Given the description of an element on the screen output the (x, y) to click on. 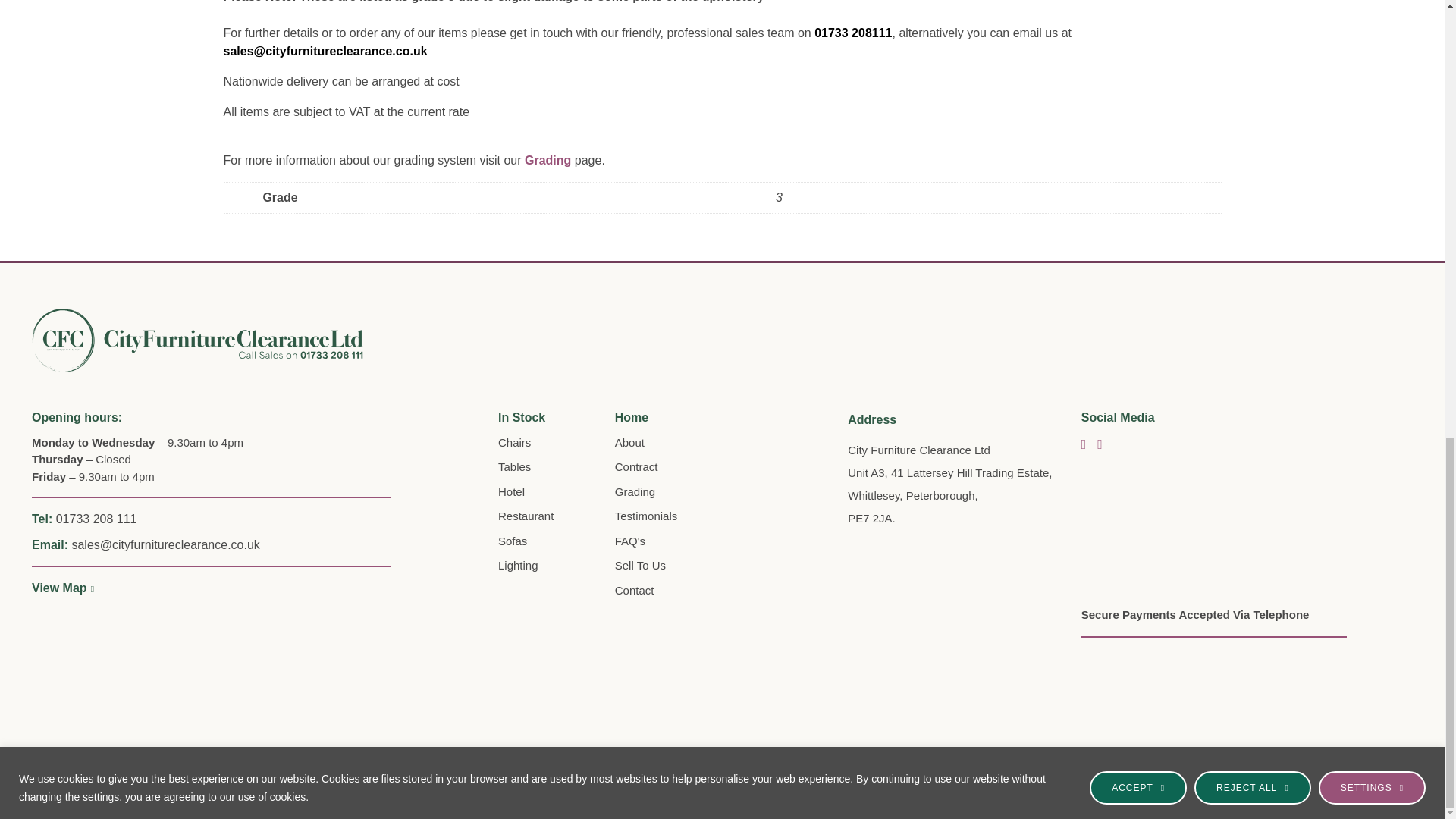
email (852, 32)
email (324, 51)
